Given the description of an element on the screen output the (x, y) to click on. 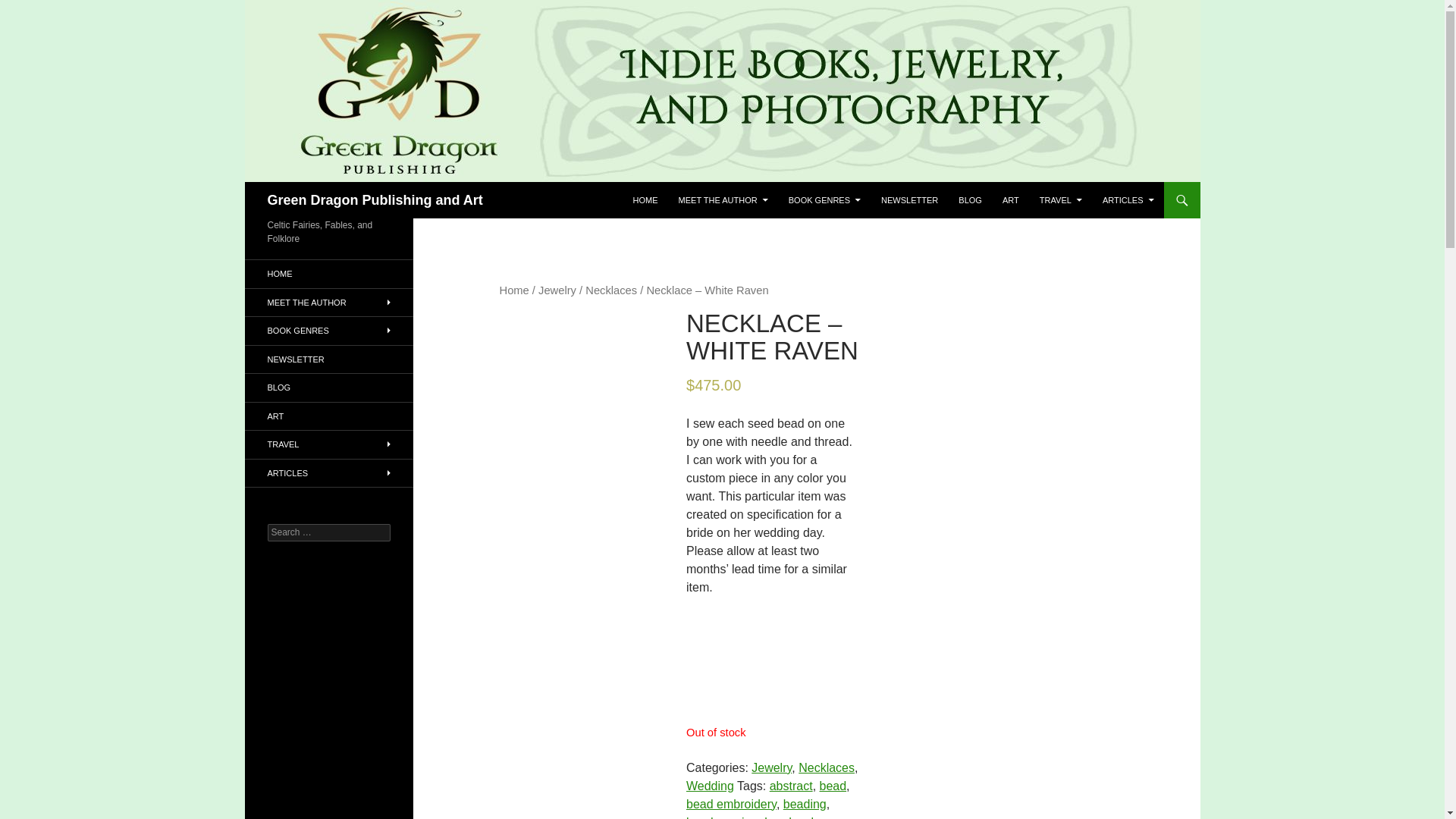
TRAVEL (1060, 199)
HOME (644, 199)
ART (1009, 199)
Green Dragon Publishing and Art (373, 199)
NEWSLETTER (909, 199)
ARTICLES (1128, 199)
MEET THE AUTHOR (723, 199)
BLOG (970, 199)
BOOK GENRES (823, 199)
